Given the description of an element on the screen output the (x, y) to click on. 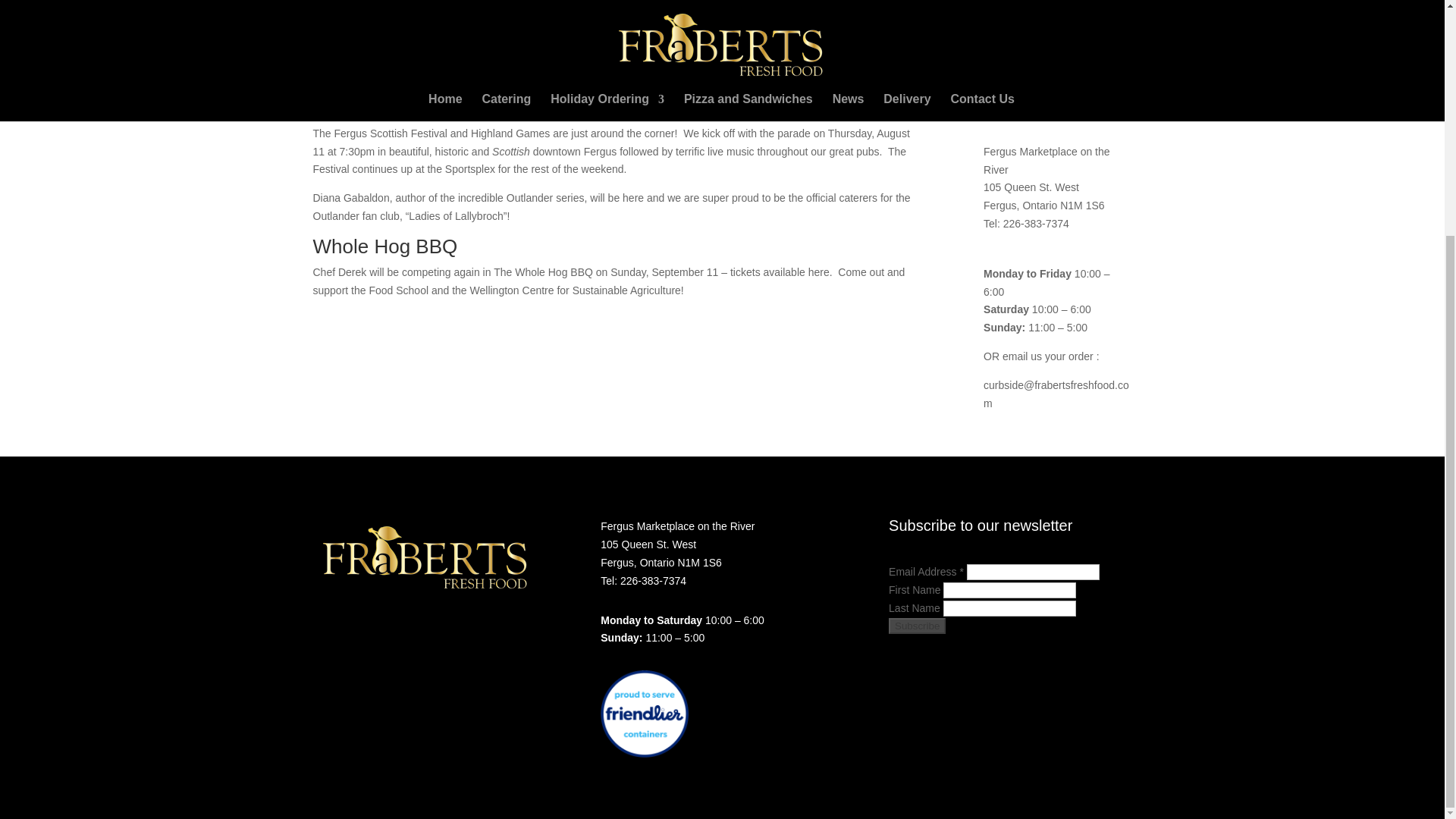
fraberts-logo (426, 557)
Subscribe (916, 625)
Subscribe (1012, 110)
Subscribe (1012, 110)
